Given the description of an element on the screen output the (x, y) to click on. 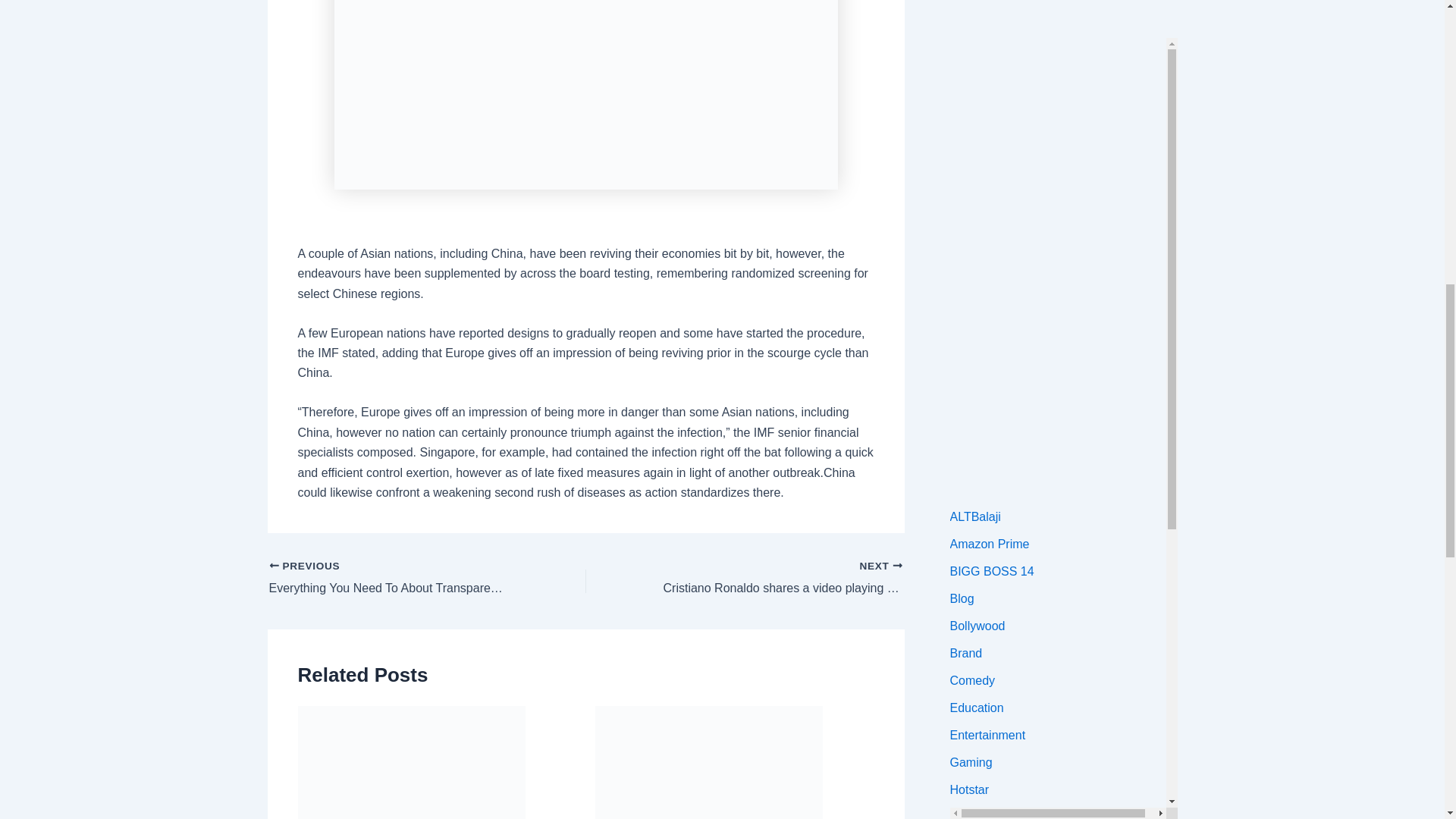
Everything You Need To About Transparency And Traceability (394, 578)
